Given the description of an element on the screen output the (x, y) to click on. 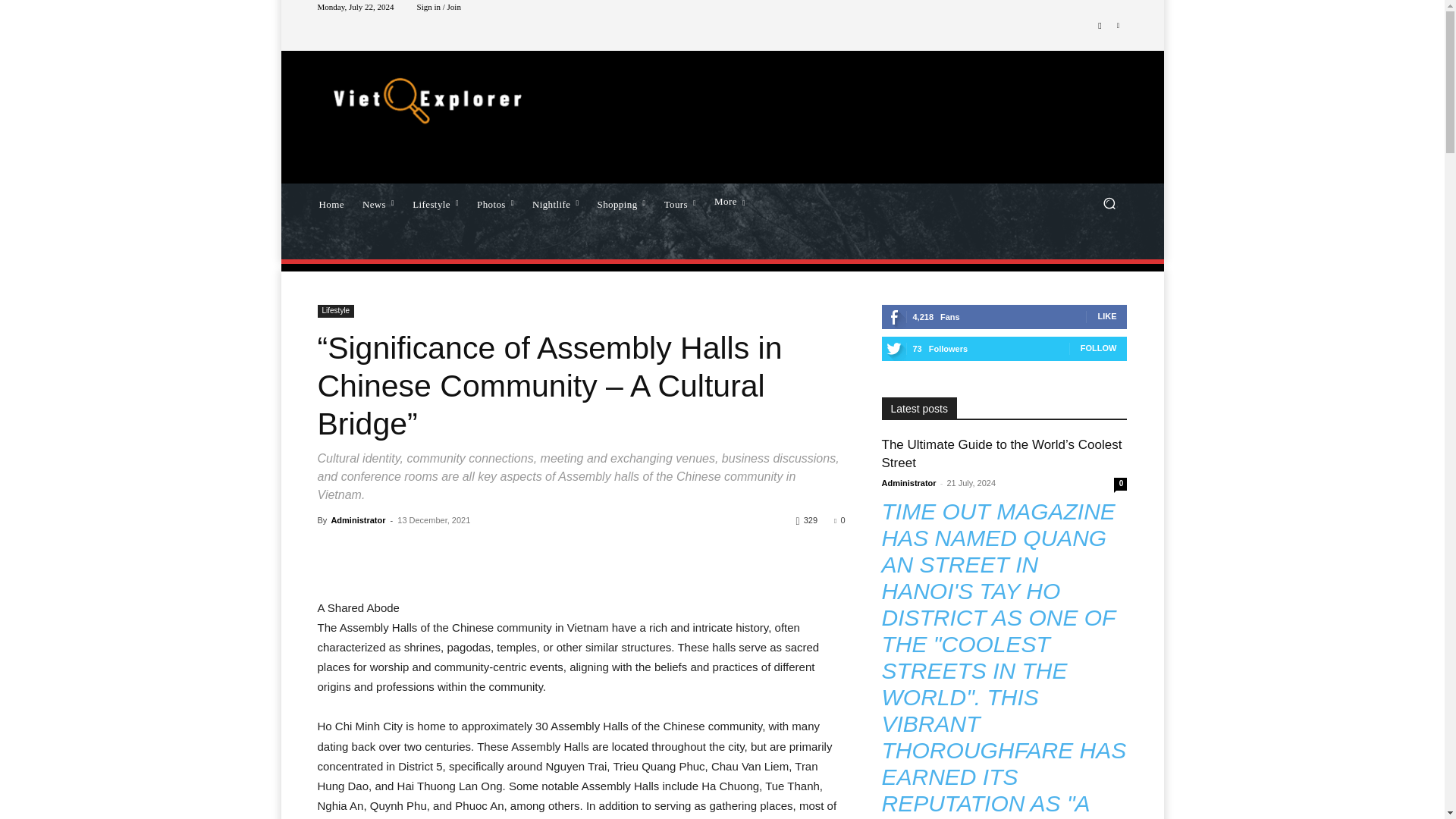
Lifestyle (435, 202)
Facebook (1099, 25)
Twitter (1117, 25)
Home (330, 202)
News (378, 202)
